Given the description of an element on the screen output the (x, y) to click on. 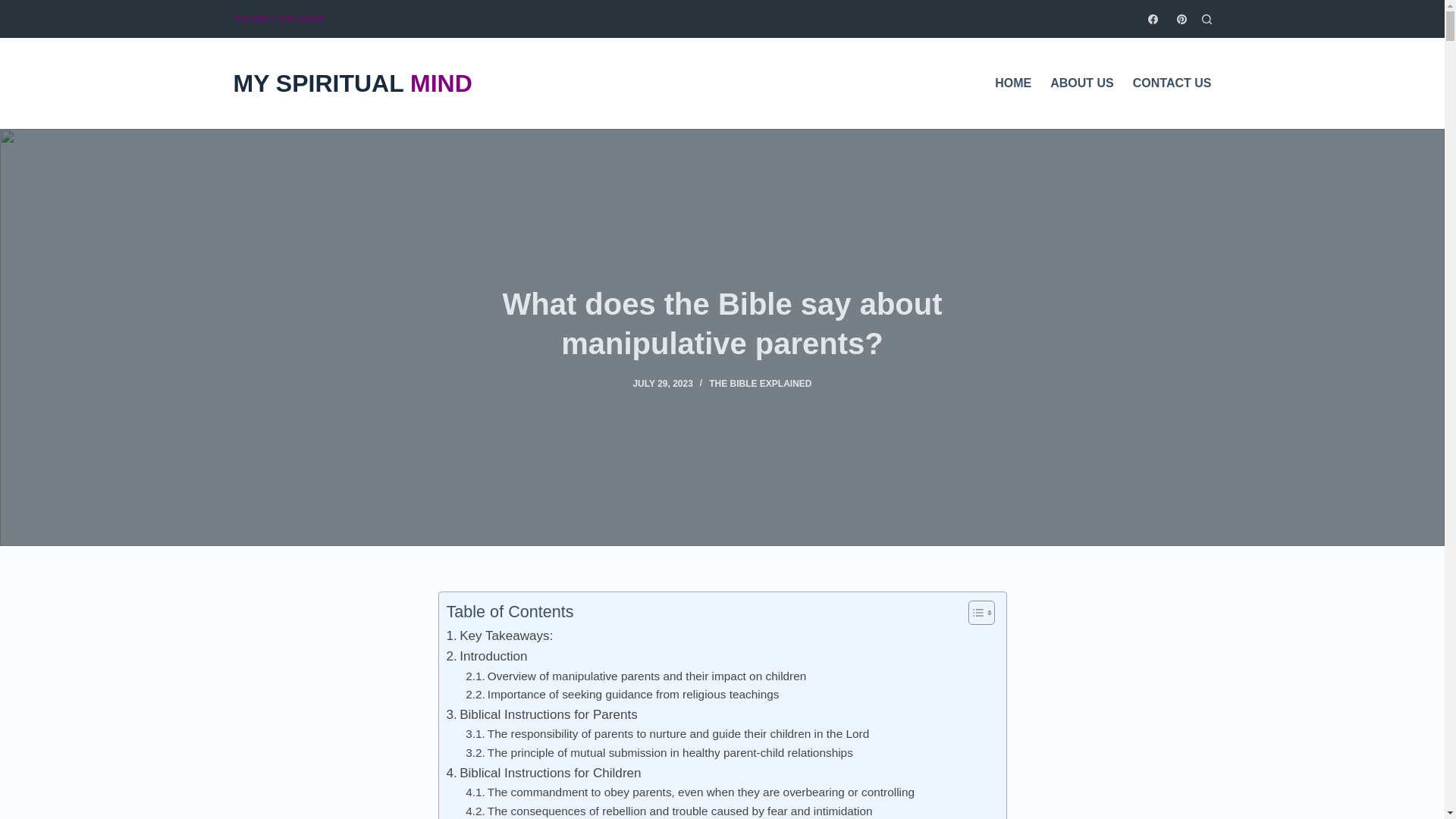
CONTACT US (1166, 82)
Key Takeaways: (499, 635)
Introduction (486, 656)
Biblical Instructions for Parents (541, 714)
Skip to content (15, 7)
Biblical Instructions for Parents (541, 714)
THE BIBLE EXPLAINED (278, 18)
Introduction (486, 656)
